Given the description of an element on the screen output the (x, y) to click on. 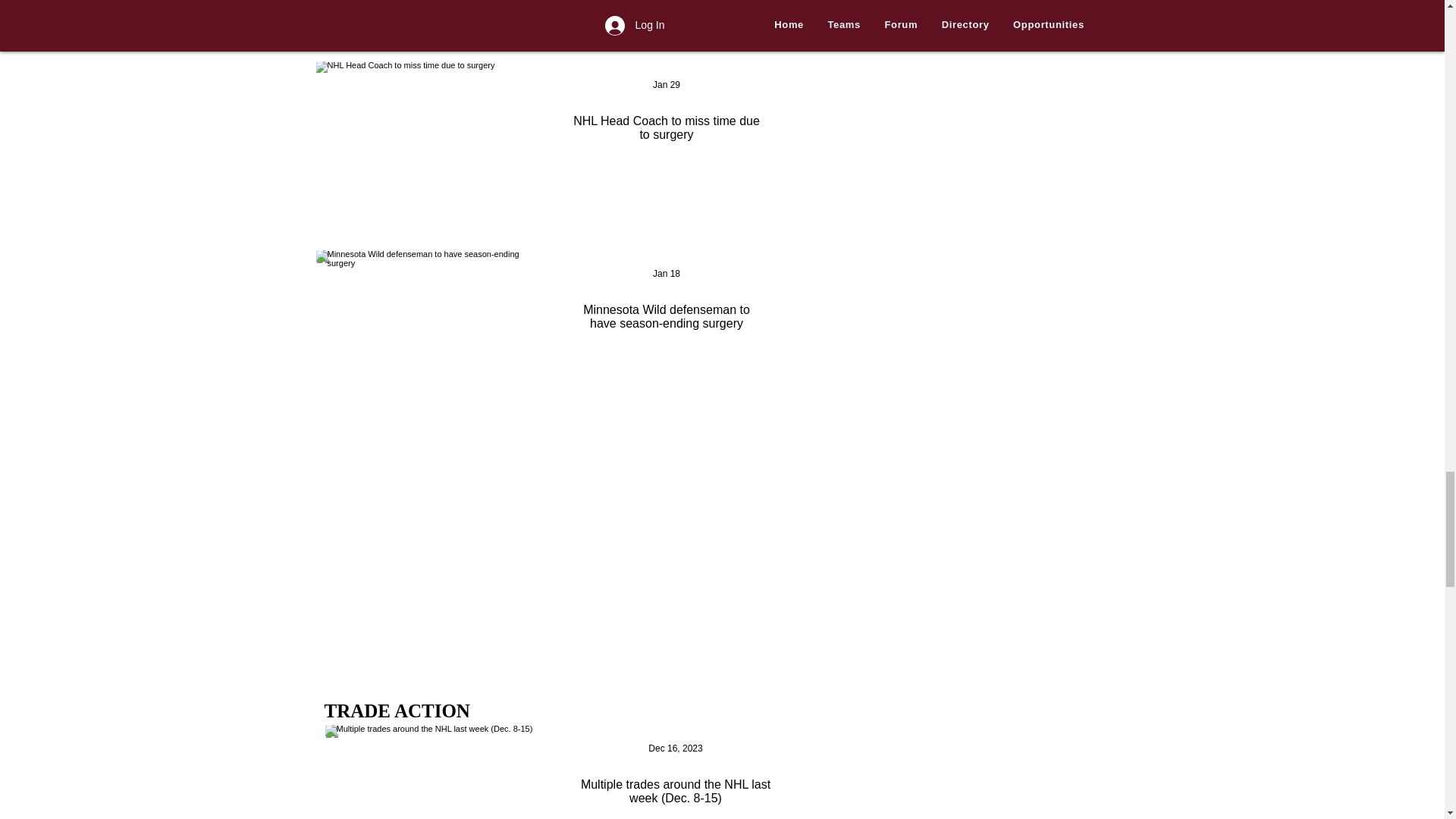
Jan 29 (665, 84)
Dec 16, 2023 (674, 747)
Jan 18 (665, 273)
